Given the description of an element on the screen output the (x, y) to click on. 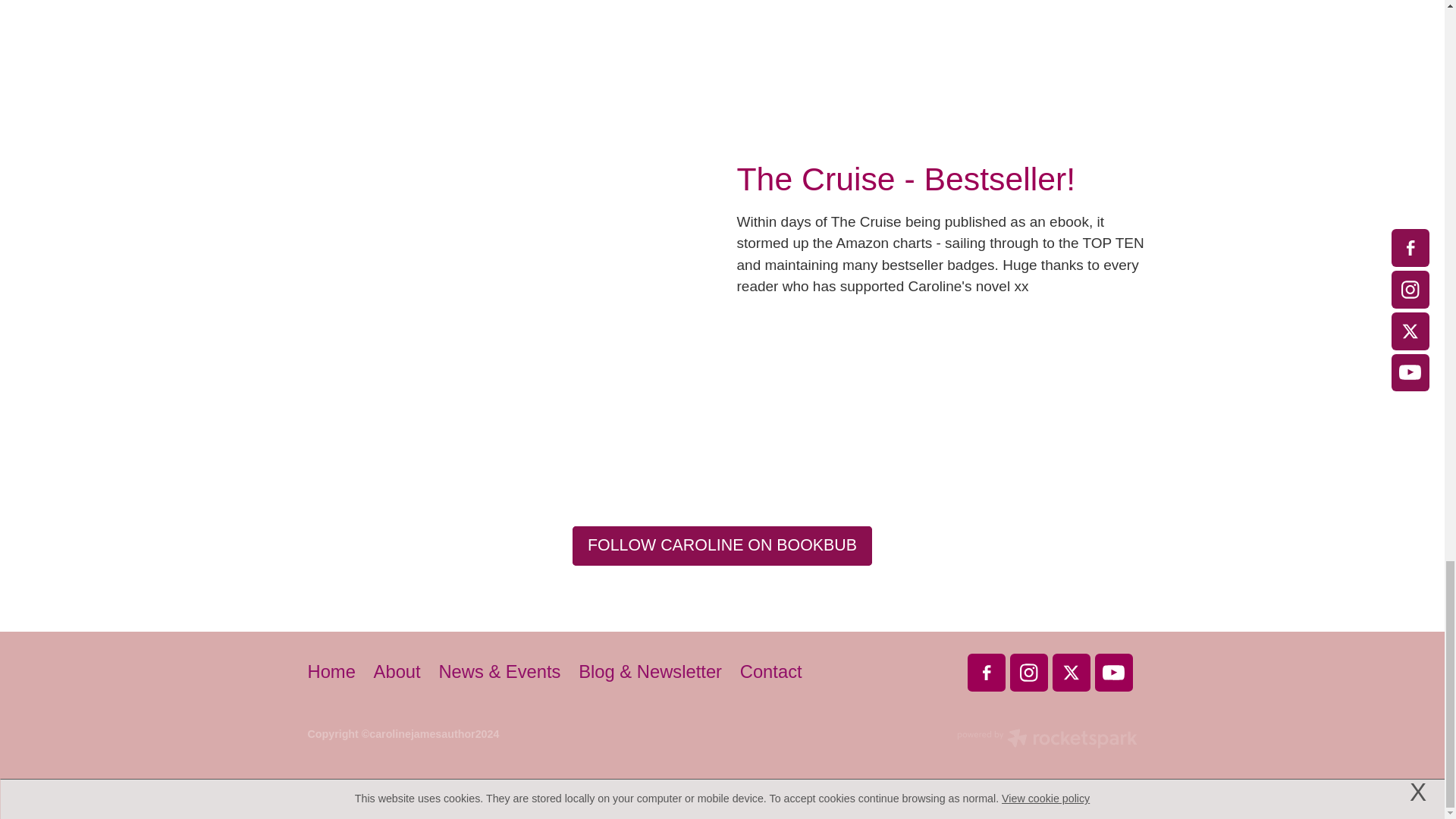
A link to this website's X. (1071, 672)
Contact (770, 671)
A link to this website's Facebook. (987, 672)
About (397, 671)
A link to this website's Instagram. (1029, 672)
Home (336, 671)
FOLLOW CAROLINE ON BOOKBUB (722, 545)
Rocketspark website builder (1046, 740)
A link to this website's Youtube. (1113, 672)
